Given the description of an element on the screen output the (x, y) to click on. 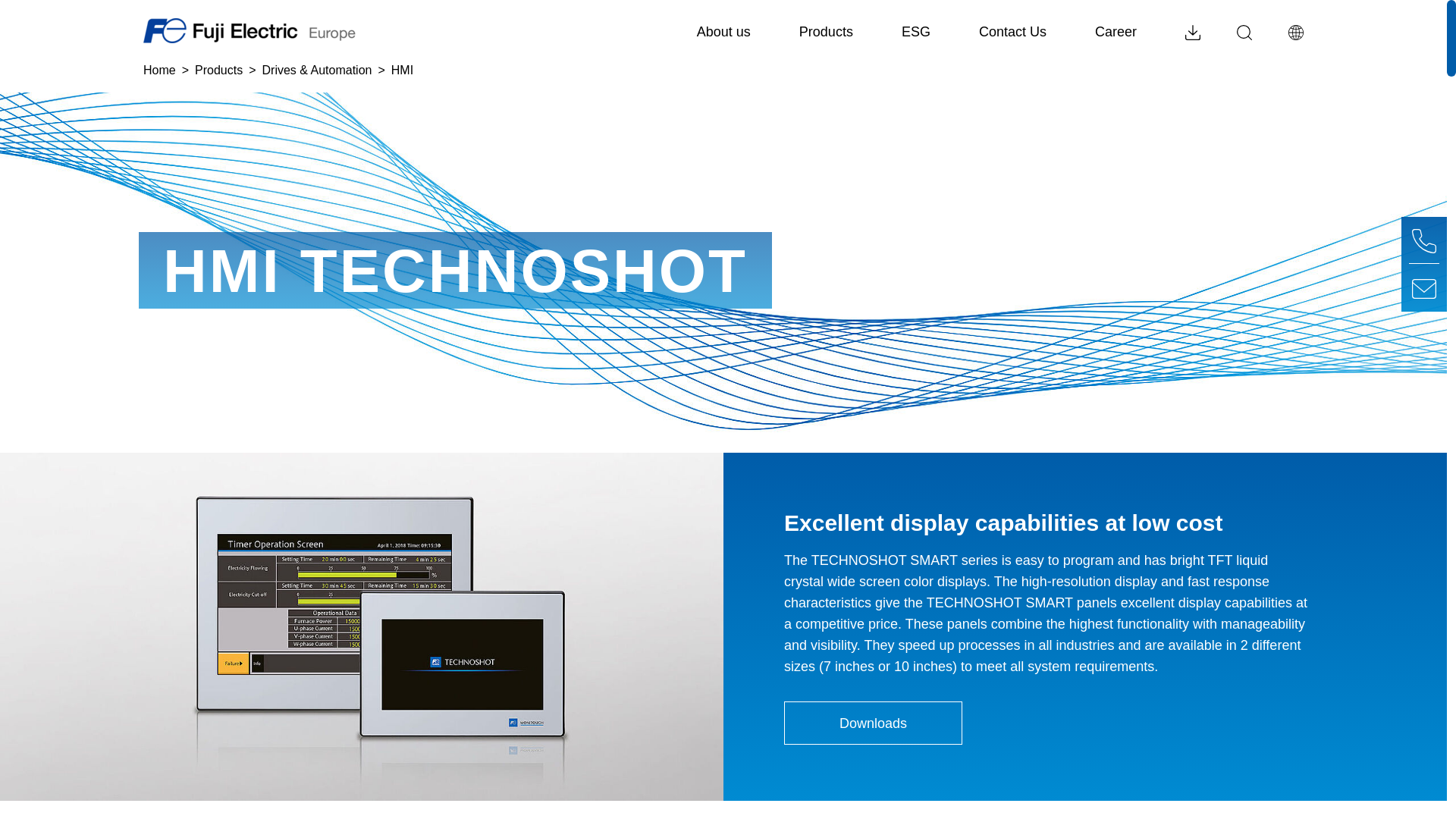
To Home Page (825, 40)
